Given the description of an element on the screen output the (x, y) to click on. 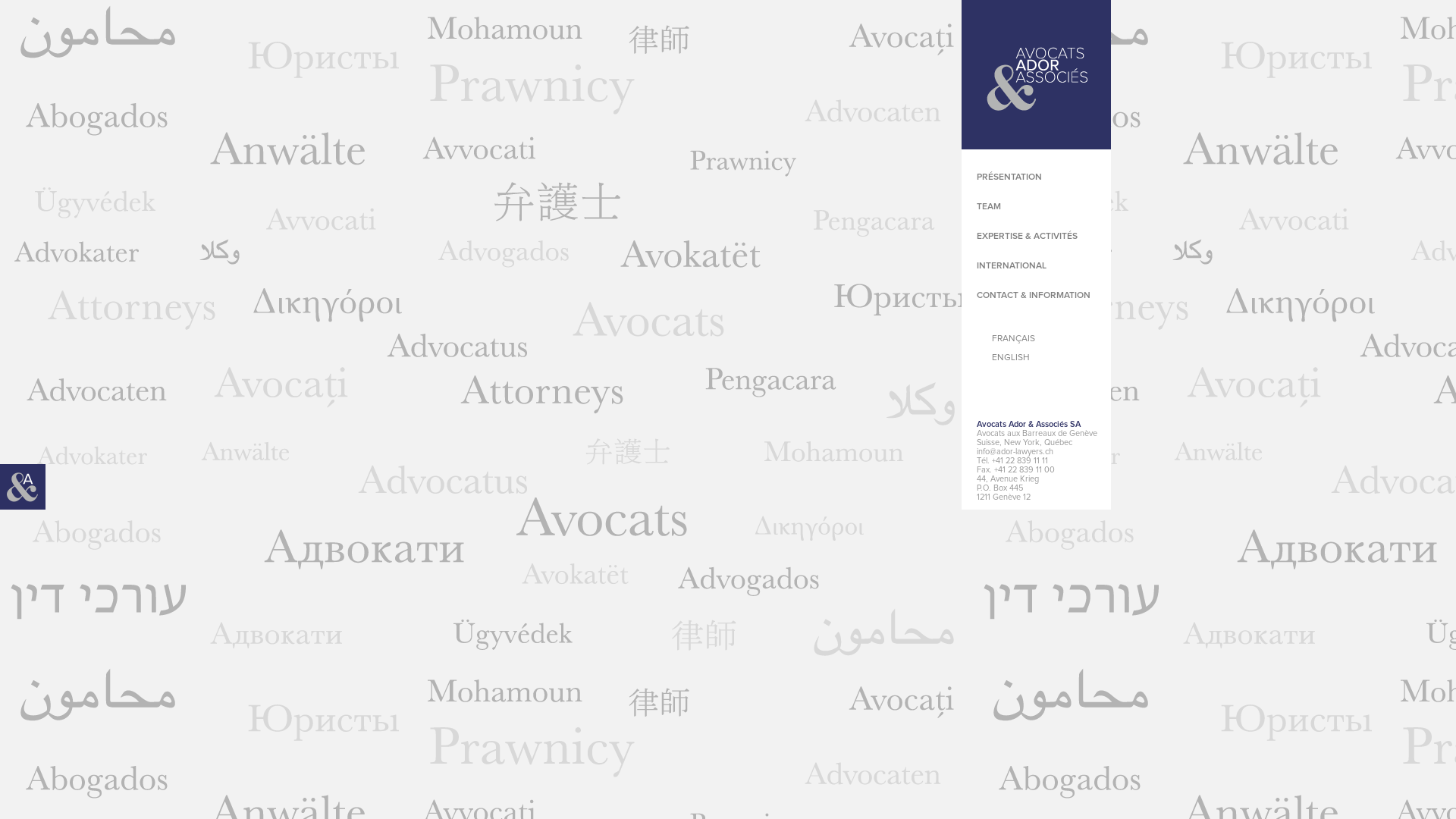
TEAM Element type: text (988, 206)
CONTACT & INFORMATION Element type: text (1033, 295)
Ador Lawyers Element type: text (1035, 74)
INTERNATIONAL Element type: text (1011, 265)
ENGLISH Element type: text (1049, 357)
&A Element type: text (22, 486)
